Given the description of an element on the screen output the (x, y) to click on. 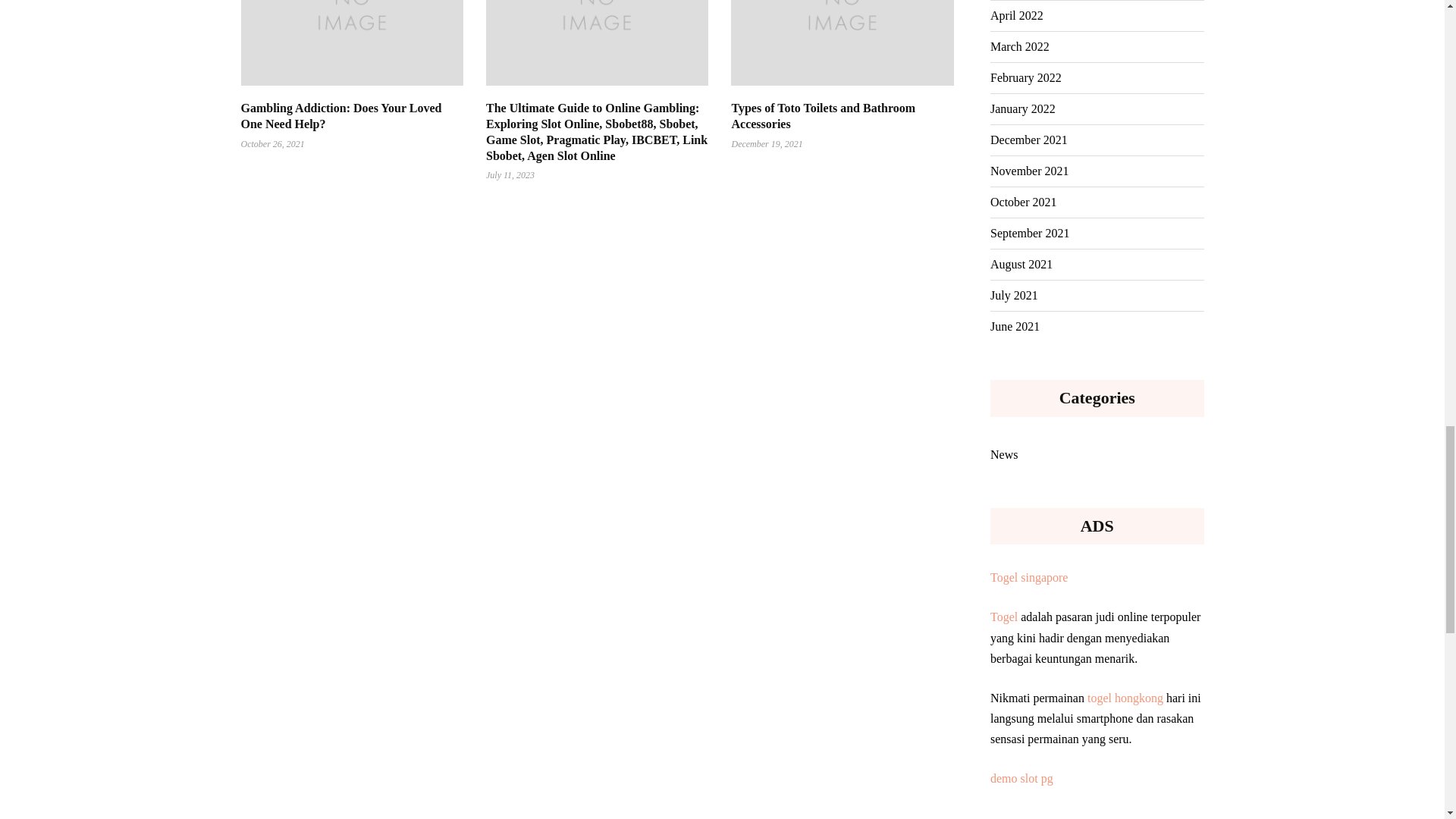
Types of Toto Toilets and Bathroom Accessories (822, 115)
Gambling Addiction: Does Your Loved One Need Help? (341, 115)
